Given the description of an element on the screen output the (x, y) to click on. 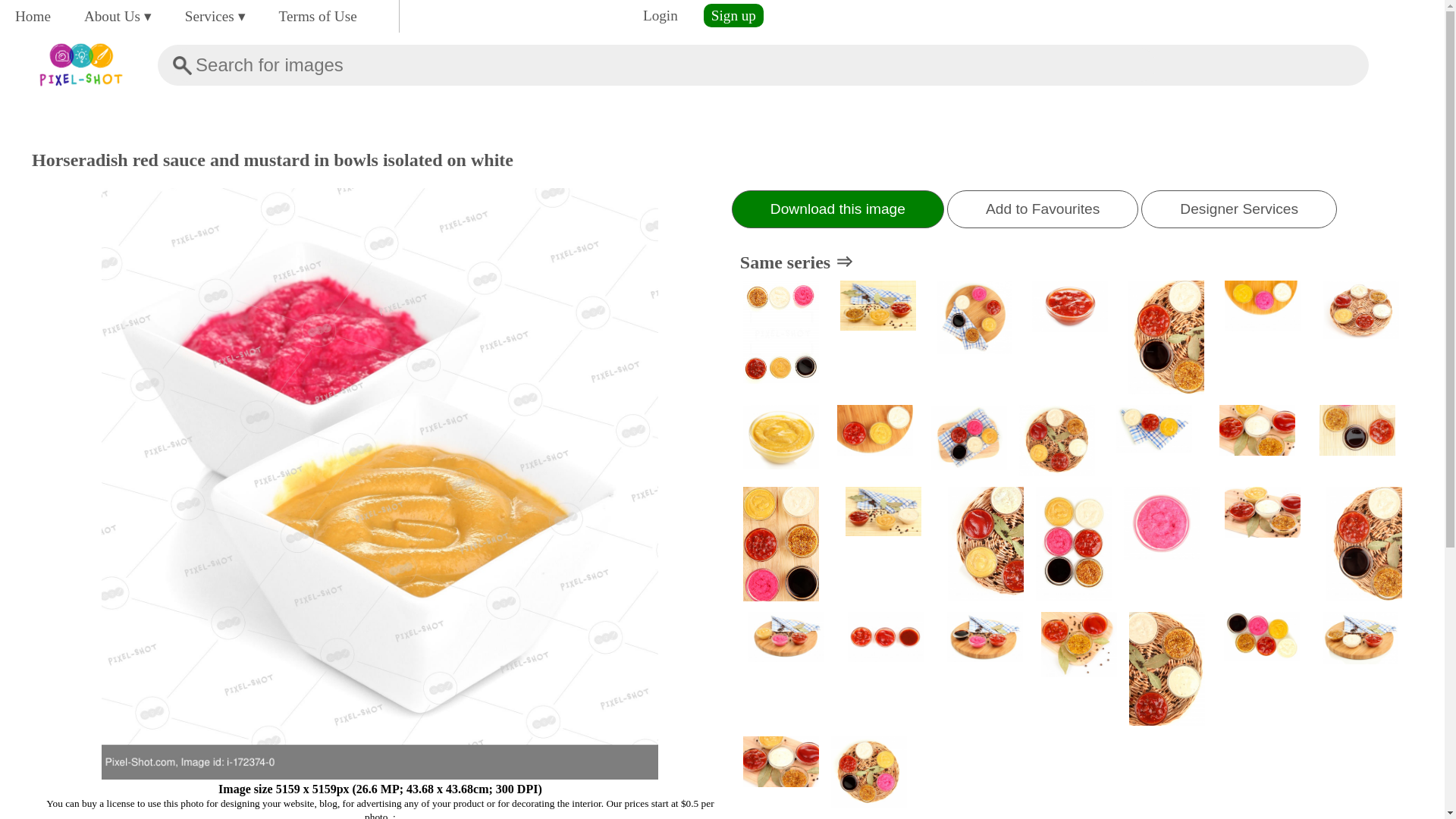
Home (32, 15)
Designer Services (1238, 209)
Login to your account using your email and password (659, 15)
Sign up (732, 15)
Home (32, 15)
Terms of Use (317, 15)
Terms of Use (317, 15)
About us (117, 15)
Login (659, 15)
Buyer registration (732, 15)
Download this image (837, 209)
Add to Favourites (1042, 209)
